Given the description of an element on the screen output the (x, y) to click on. 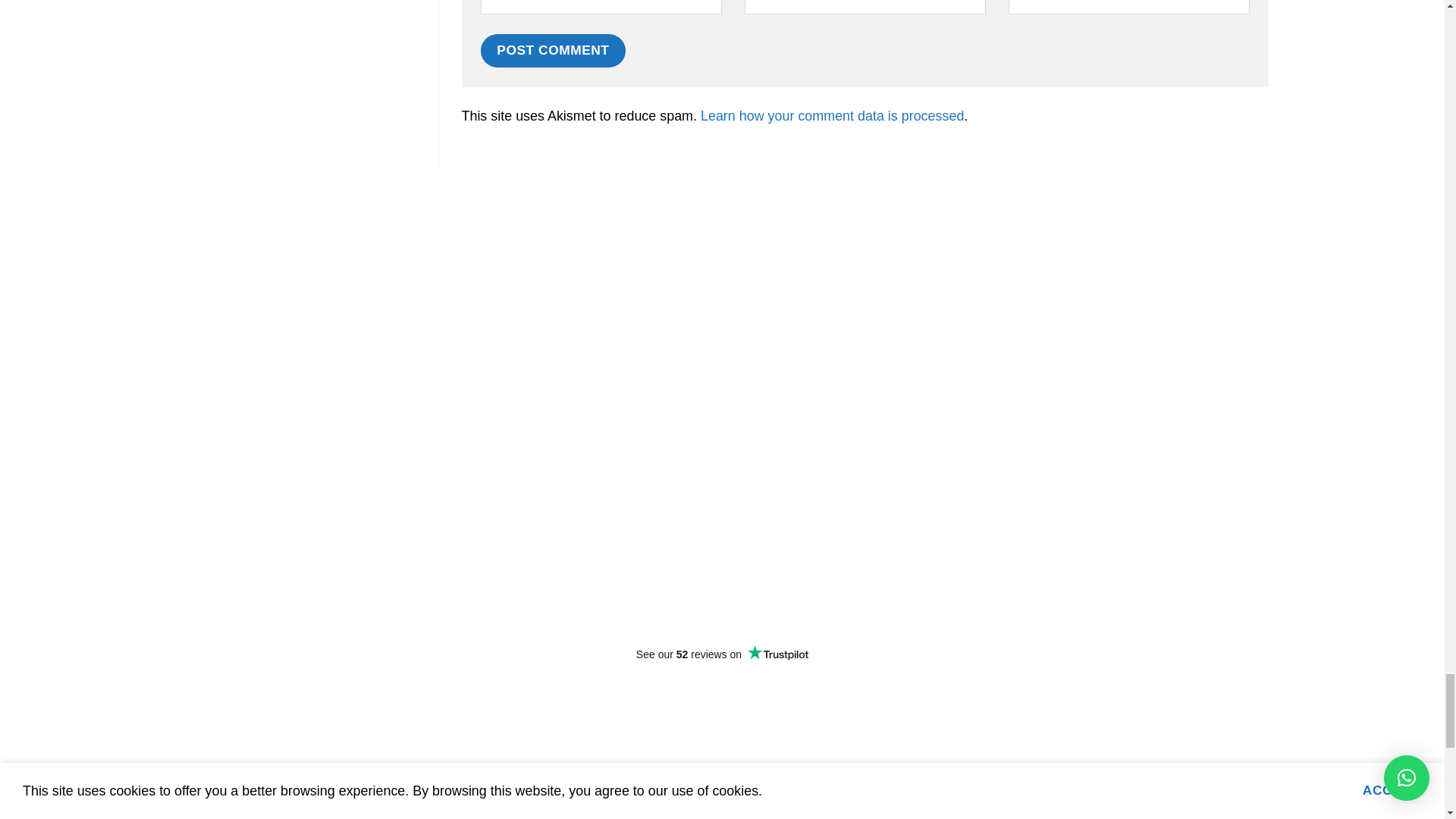
Post Comment (553, 50)
